Given the description of an element on the screen output the (x, y) to click on. 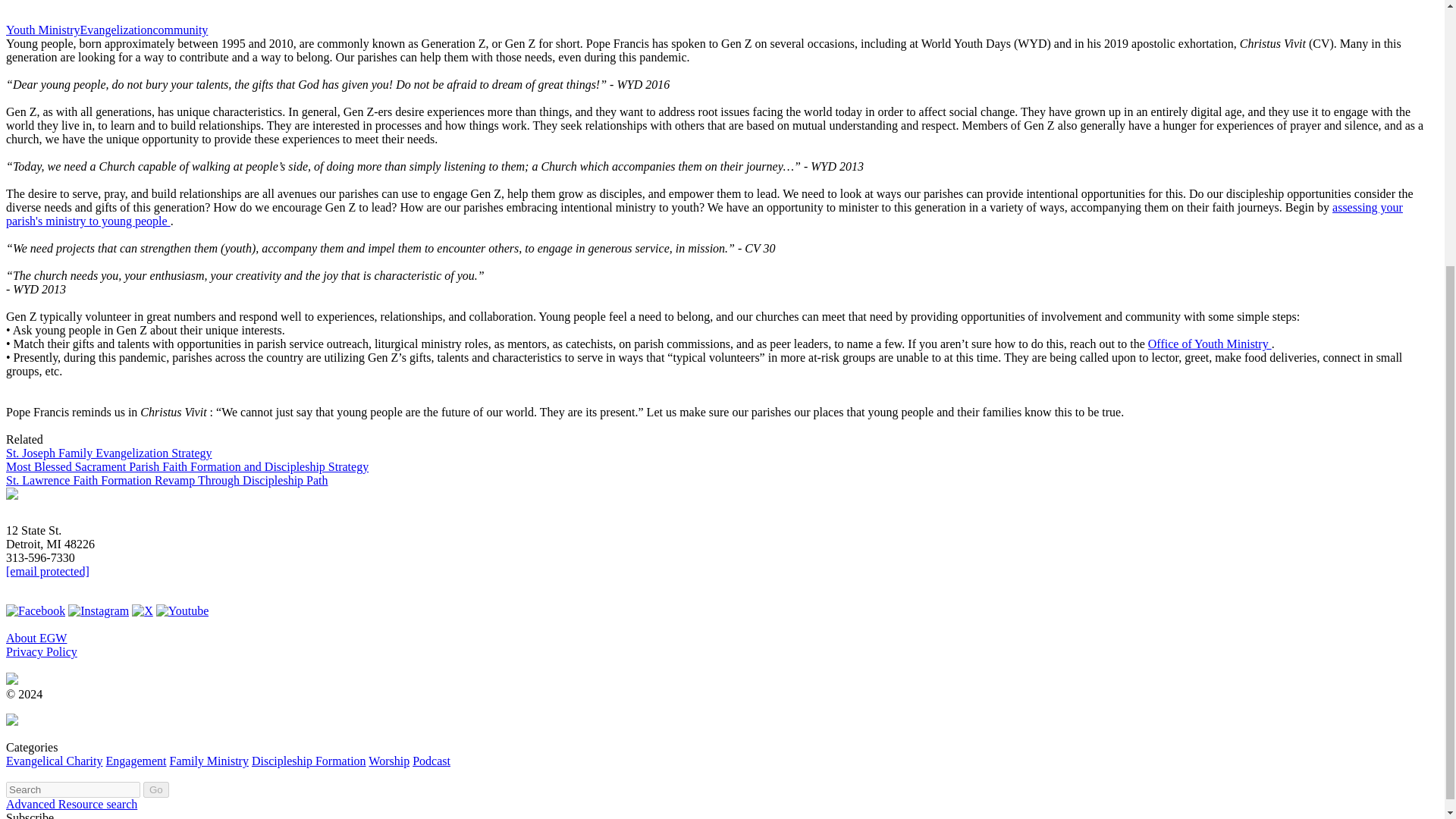
community (180, 29)
assessing your parish's ministry to young people (349, 10)
Youth Ministry (118, 10)
Office of Youth Ministry (704, 213)
Evangelization (42, 29)
